Given the description of an element on the screen output the (x, y) to click on. 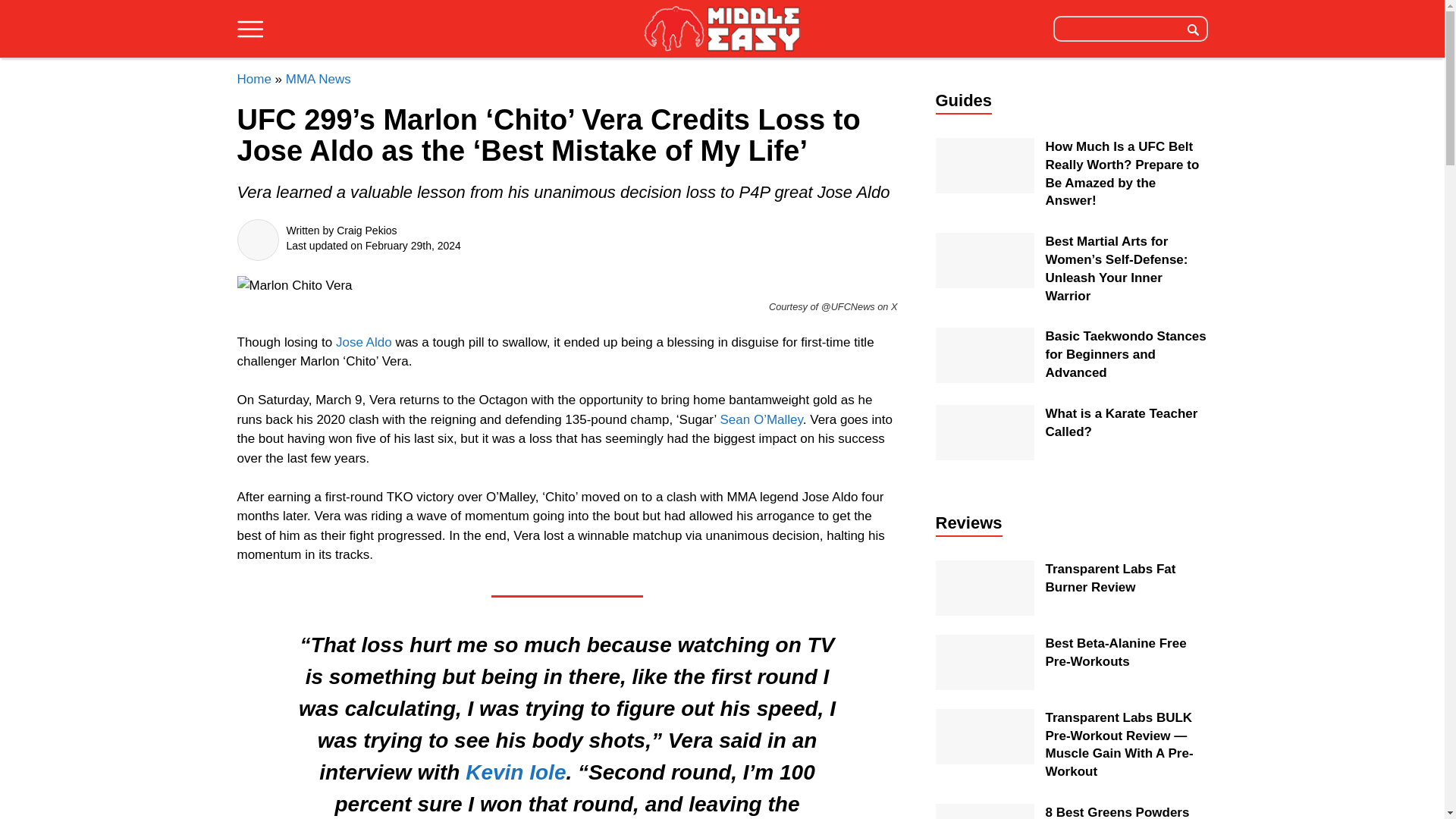
MiddleEasy (721, 29)
MiddleEasy (721, 28)
GO (1193, 28)
